Given the description of an element on the screen output the (x, y) to click on. 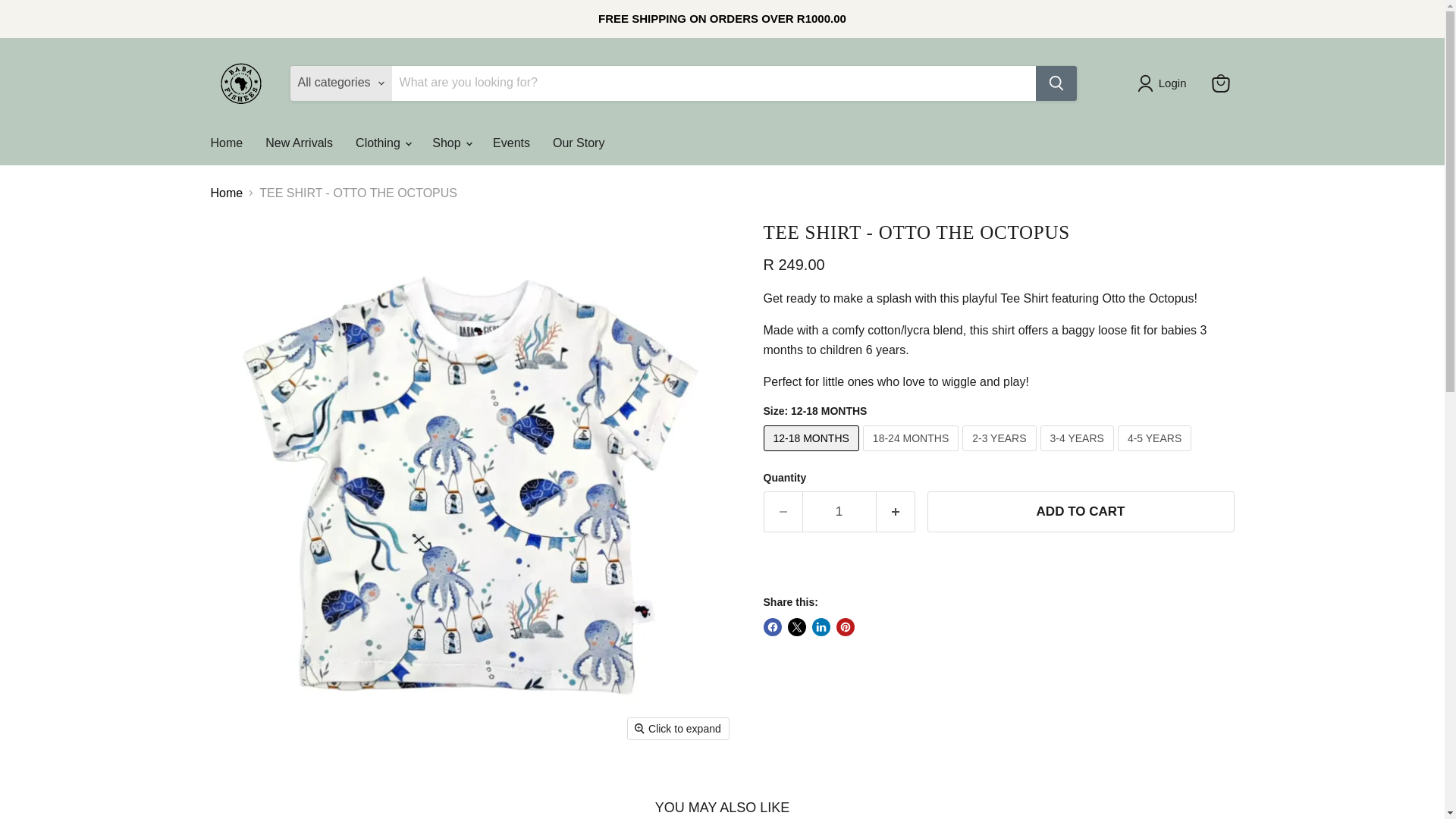
Our Story (578, 142)
View cart (1220, 82)
1 (839, 511)
New Arrivals (298, 142)
Login (1164, 83)
Home (225, 142)
Events (511, 142)
